Given the description of an element on the screen output the (x, y) to click on. 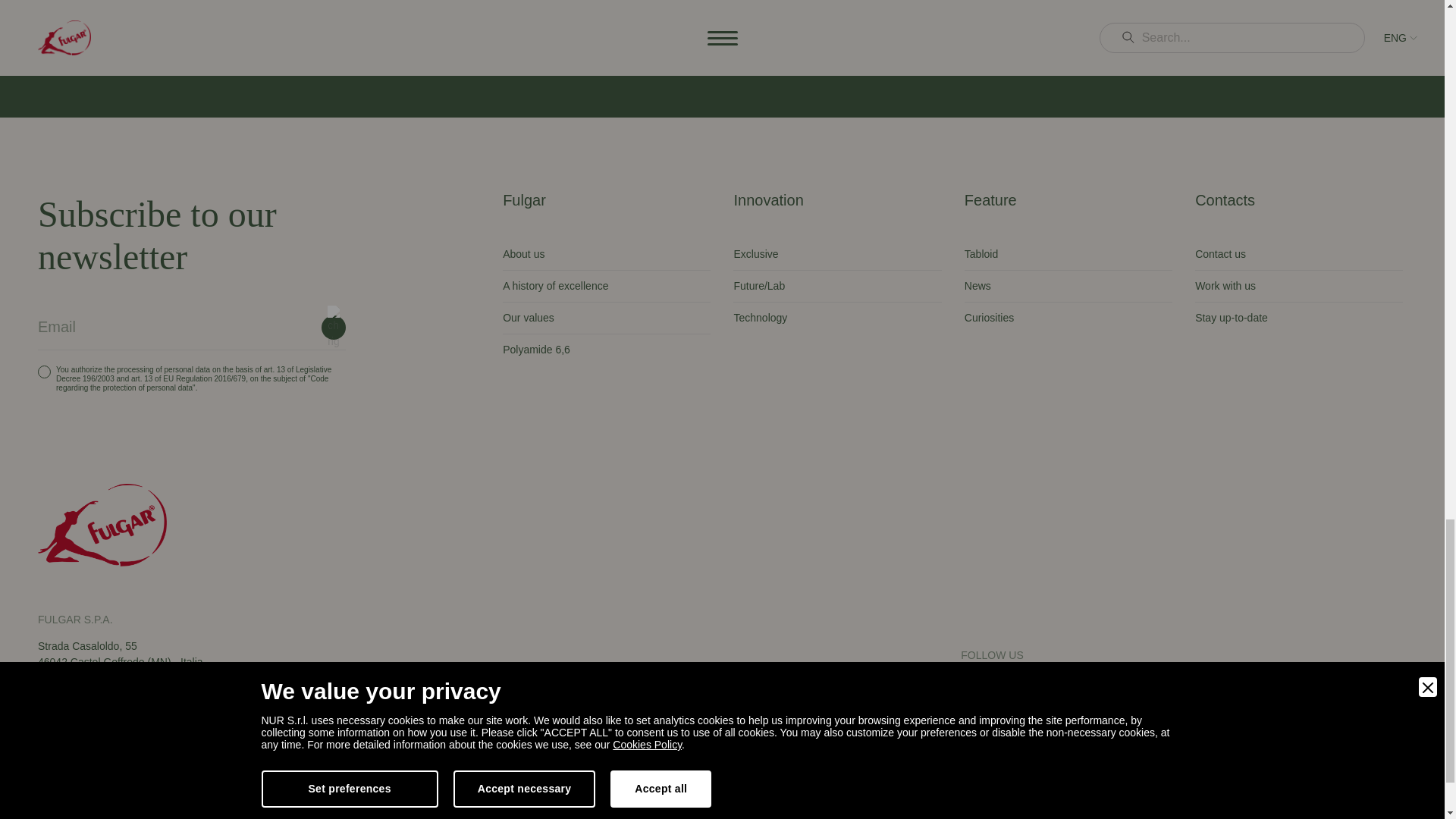
on (43, 371)
